Given the description of an element on the screen output the (x, y) to click on. 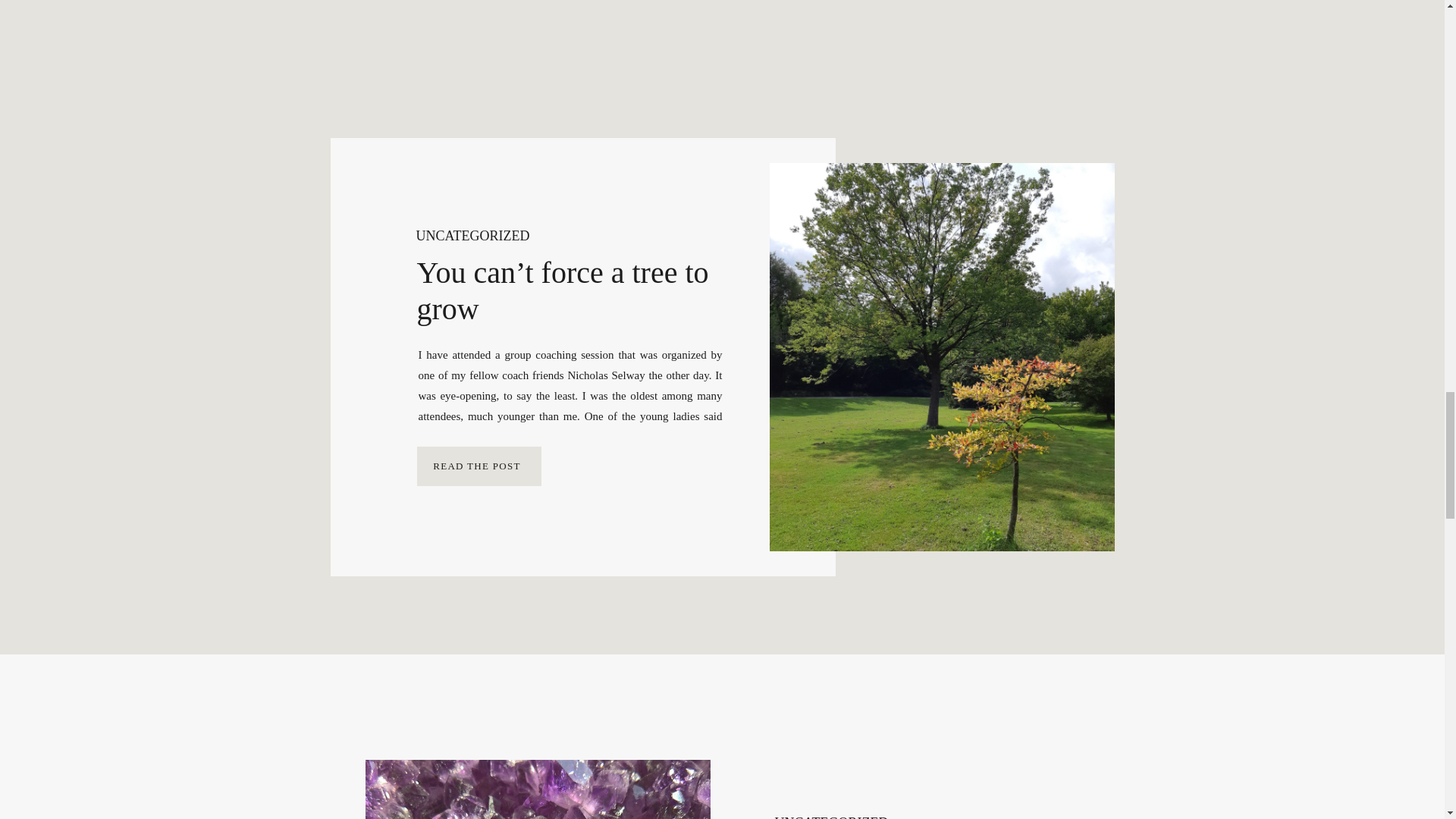
Why should you have crystals around you? (537, 789)
UNCATEGORIZED (471, 235)
READ THE POST (477, 465)
